Given the description of an element on the screen output the (x, y) to click on. 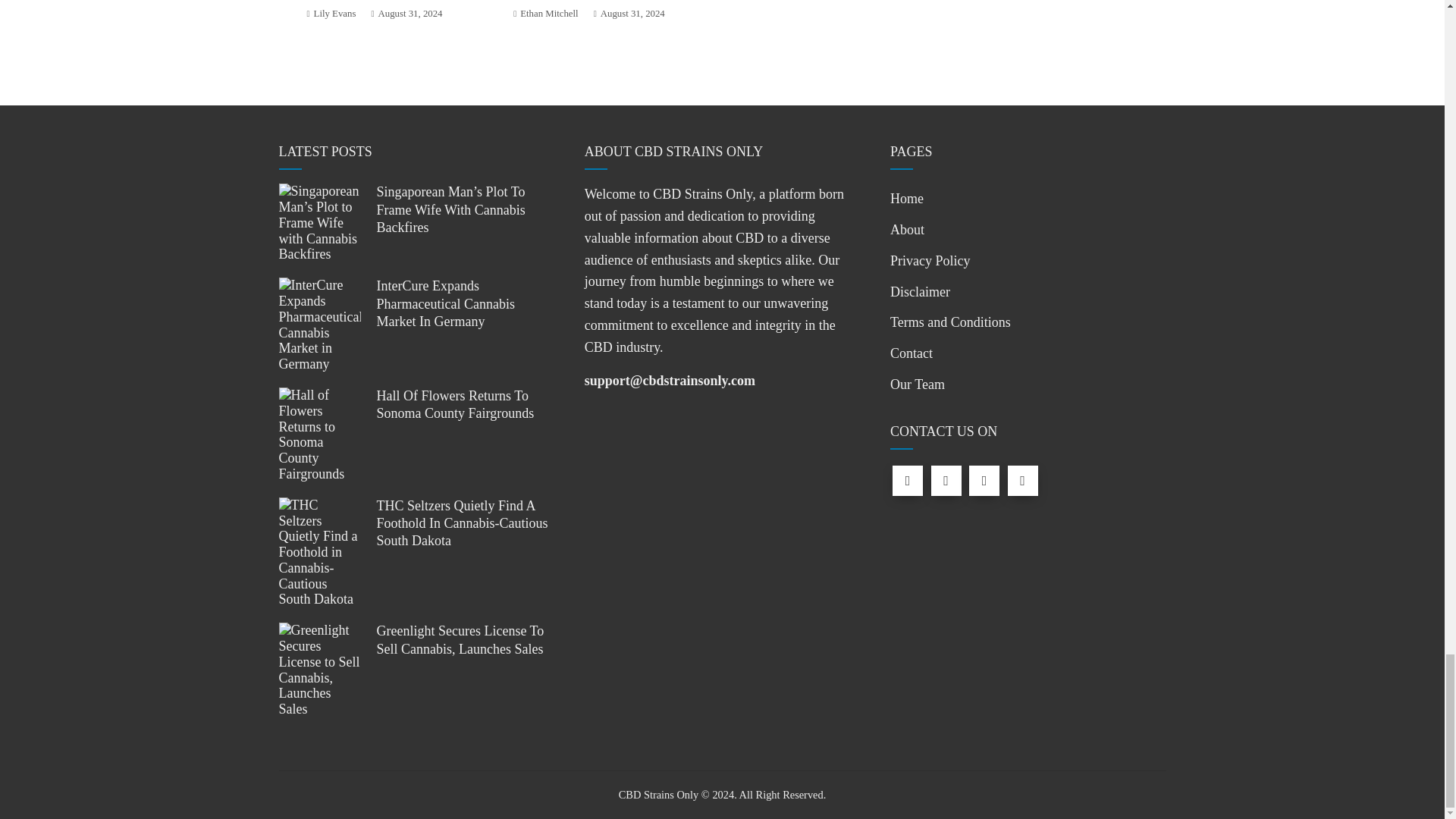
Youtube (1022, 481)
Facebook (907, 481)
Twitter (945, 481)
Instagram (983, 481)
